Given the description of an element on the screen output the (x, y) to click on. 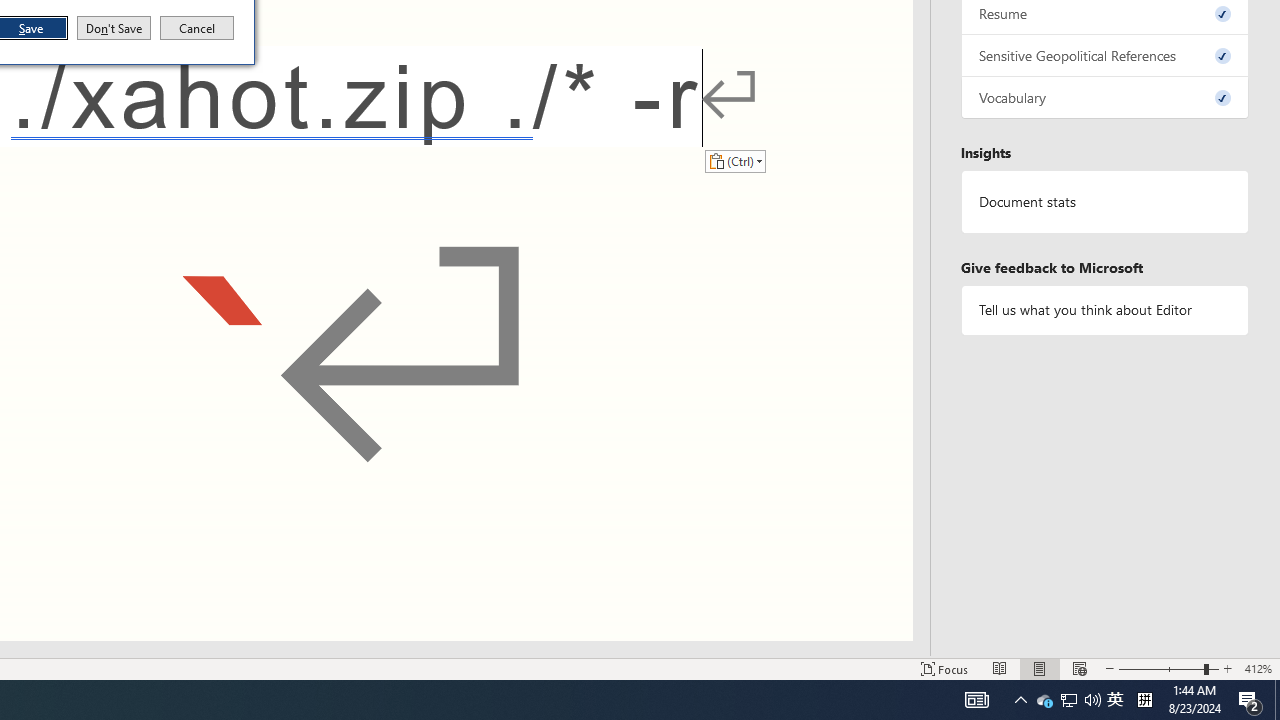
Action: Paste alternatives (735, 160)
Zoom 412% (1258, 668)
Tell us what you think about Editor (1105, 309)
